Given the description of an element on the screen output the (x, y) to click on. 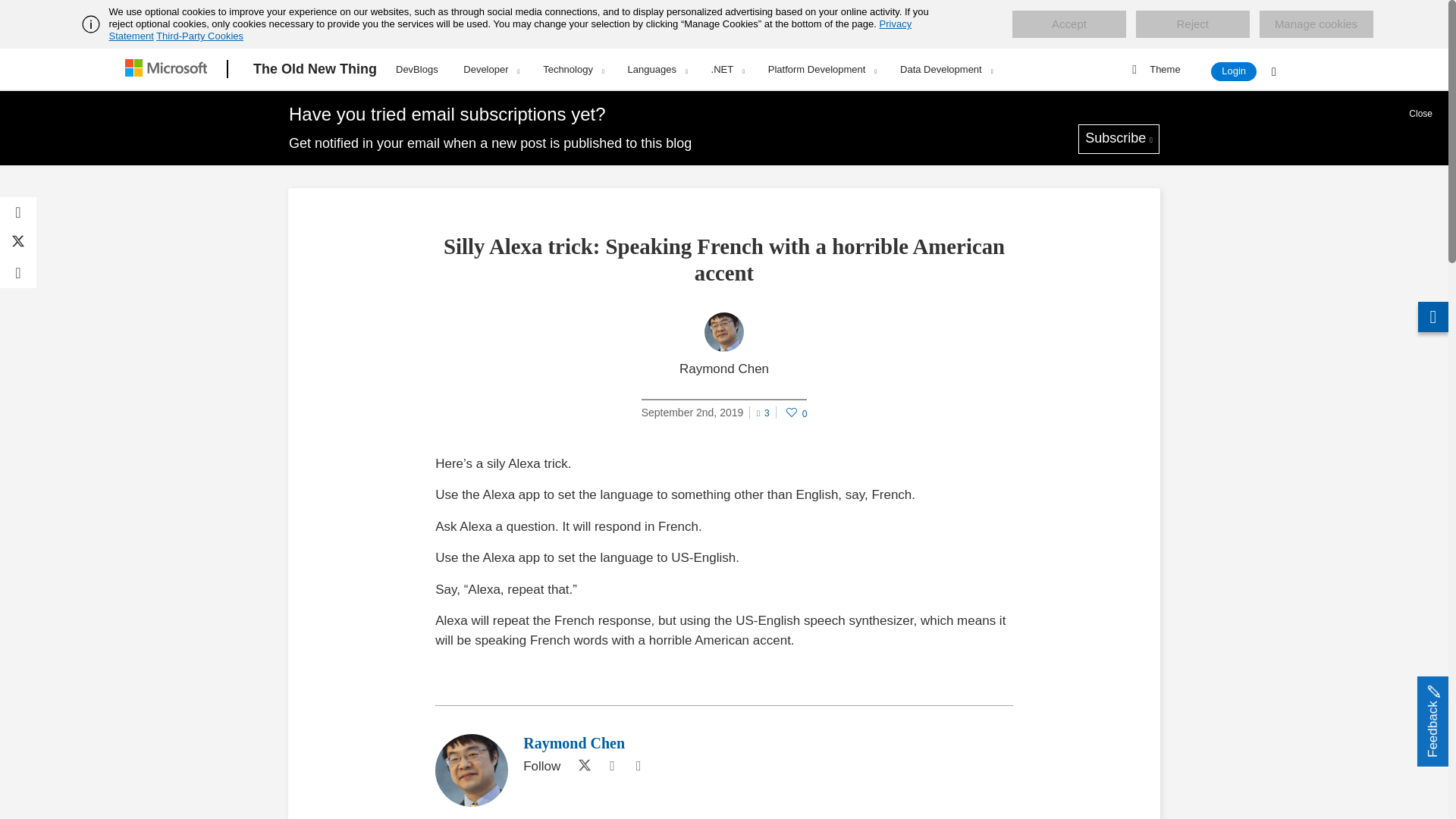
Third-Party Cookies (199, 35)
Github (611, 765)
Developer (490, 69)
Languages (657, 69)
Technology (572, 69)
Privacy Statement (510, 29)
The Old New Thing (315, 69)
DevBlogs (416, 67)
Manage cookies (1316, 23)
Reject (1192, 23)
